Given the description of an element on the screen output the (x, y) to click on. 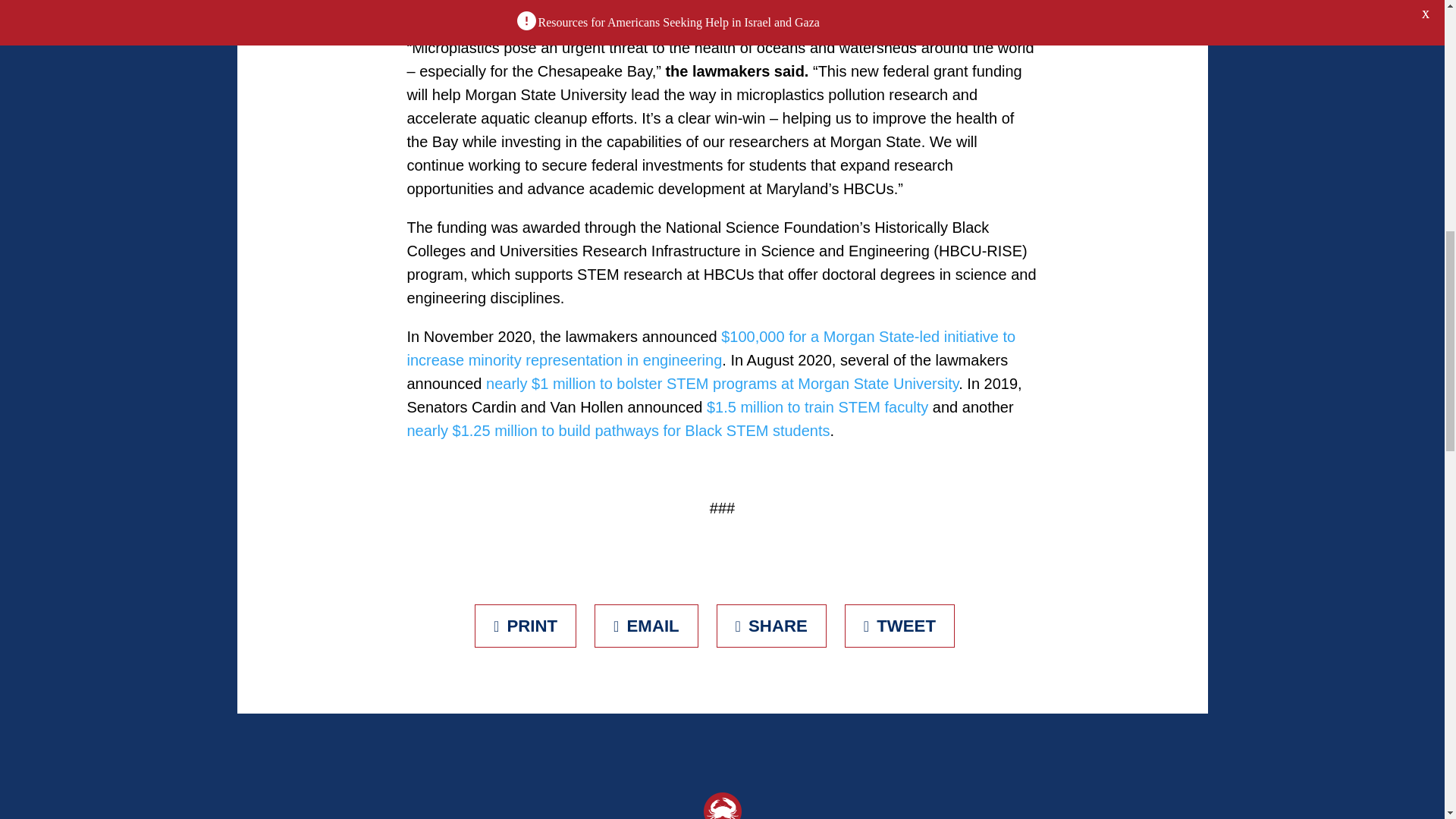
Crab (722, 805)
Tweet (899, 625)
Print (525, 625)
Share on Facebook (771, 625)
Email (646, 625)
